Given the description of an element on the screen output the (x, y) to click on. 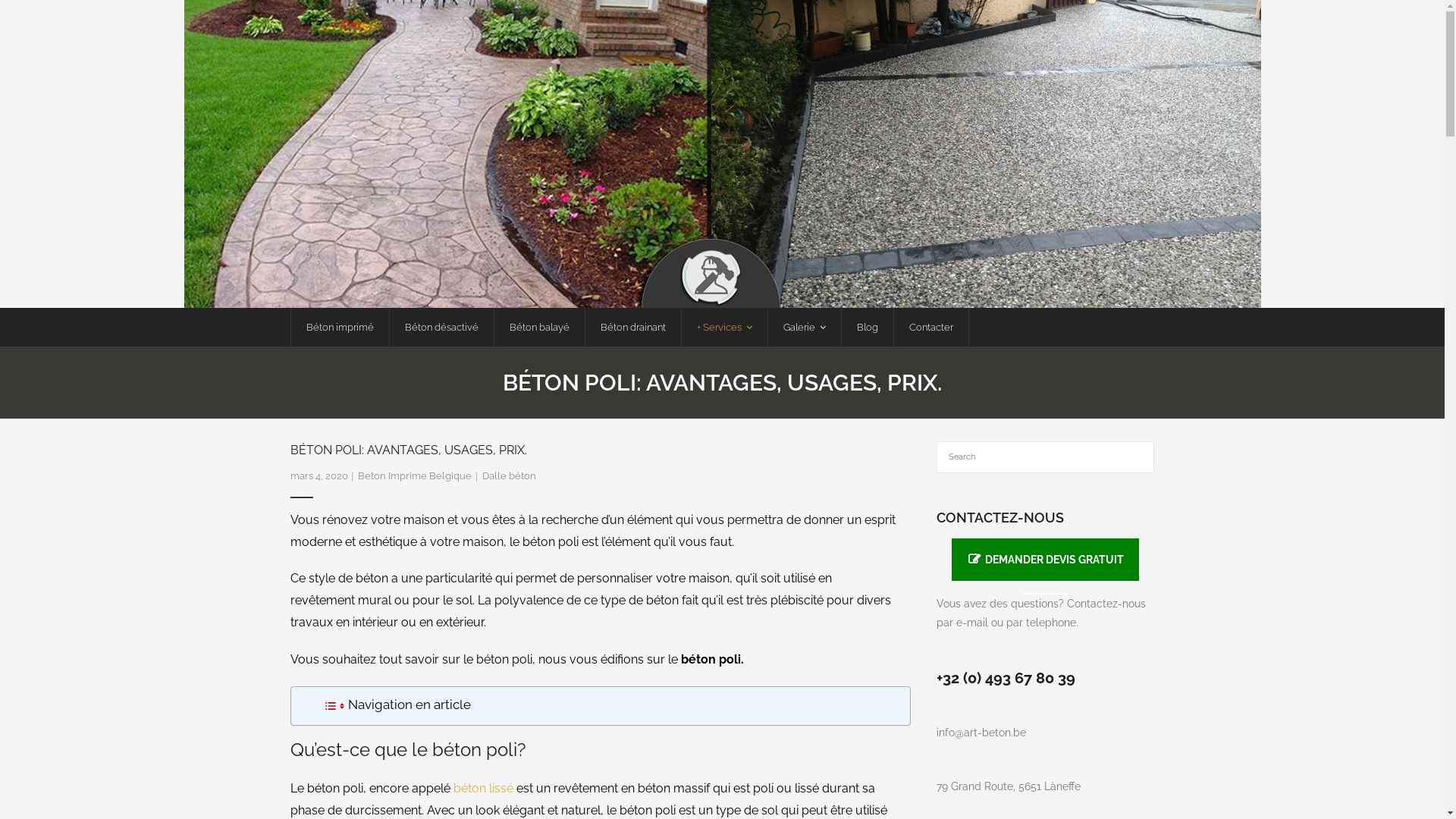
Beton Imprime Belgique Element type: text (414, 475)
+ Services Element type: text (723, 326)
mars 4, 2020 Element type: text (318, 475)
Blog Element type: text (866, 326)
Search Element type: text (36, 17)
beton expert Element type: hover (721, 153)
Contacter Element type: text (931, 326)
Galerie Element type: text (803, 326)
DEMANDER DEVIS GRATUIT Element type: text (1045, 559)
+32 (0) 493 67 80 39 Element type: text (1005, 677)
